Given the description of an element on the screen output the (x, y) to click on. 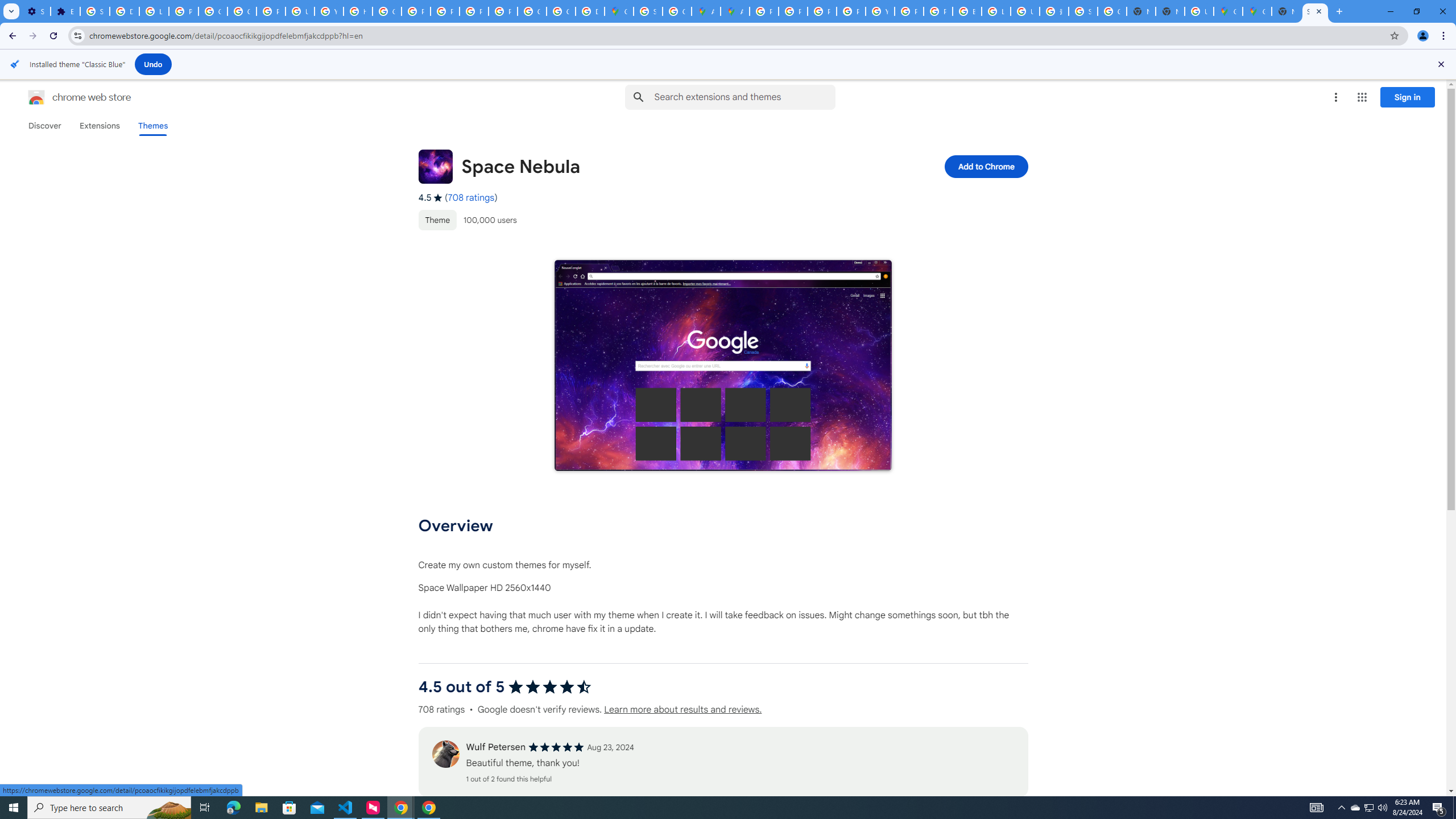
Policy Accountability and Transparency - Transparency Center (763, 11)
